Given the description of an element on the screen output the (x, y) to click on. 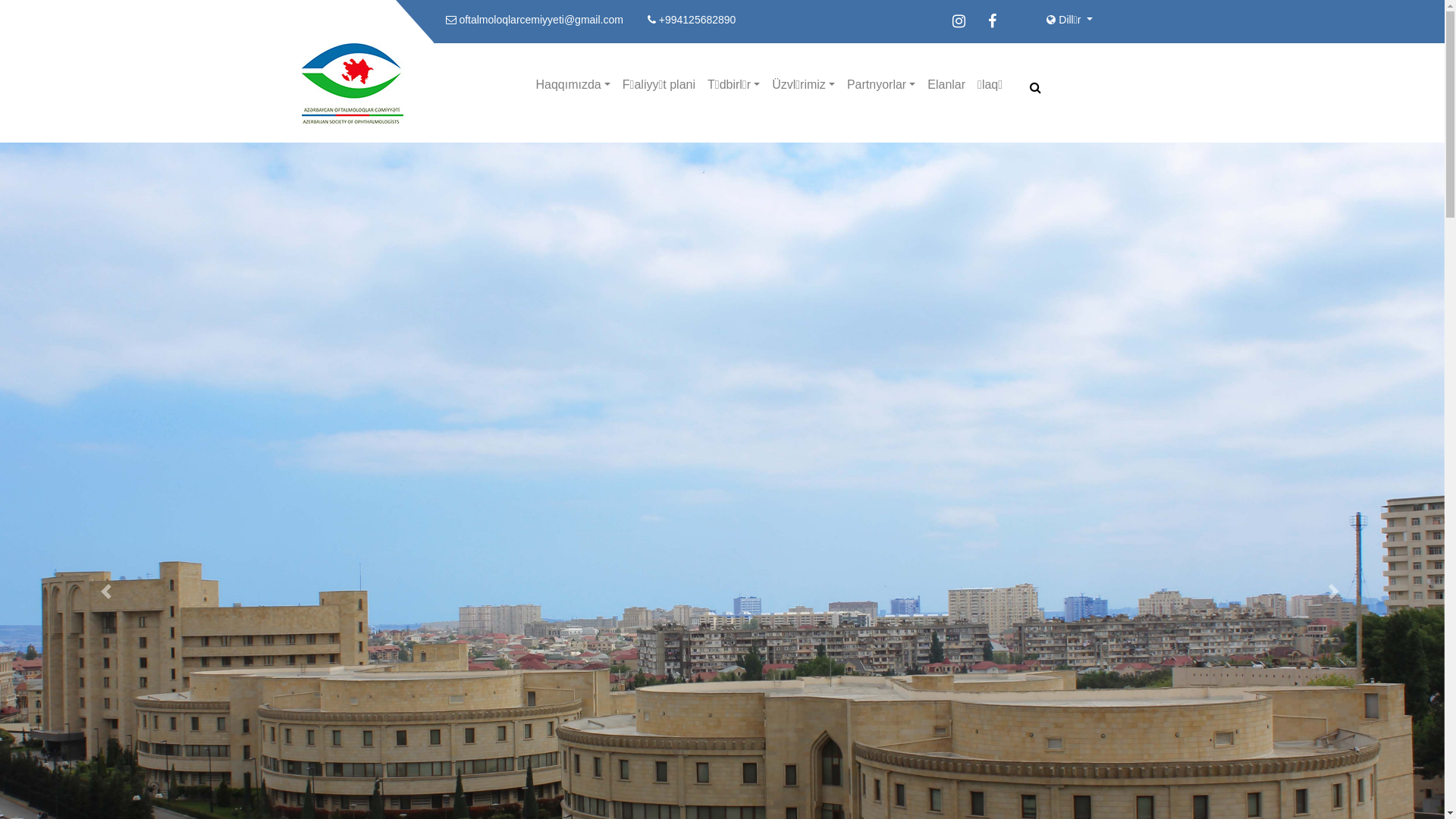
Next Element type: text (1335, 398)
Elanlar Element type: text (946, 84)
Previous Element type: text (108, 398)
Partnyorlar Element type: text (880, 84)
